Given the description of an element on the screen output the (x, y) to click on. 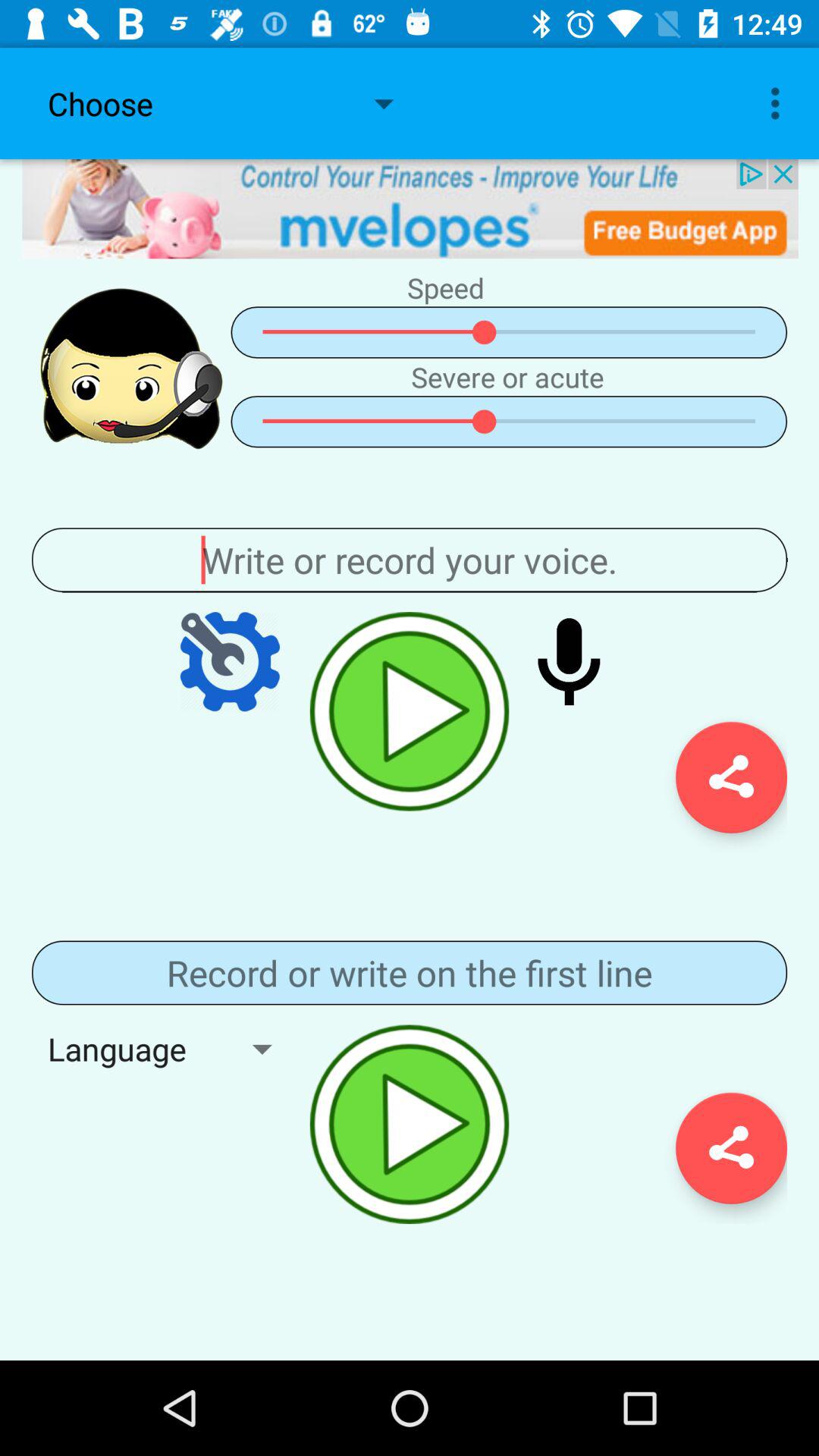
share recorded voice (731, 777)
